Given the description of an element on the screen output the (x, y) to click on. 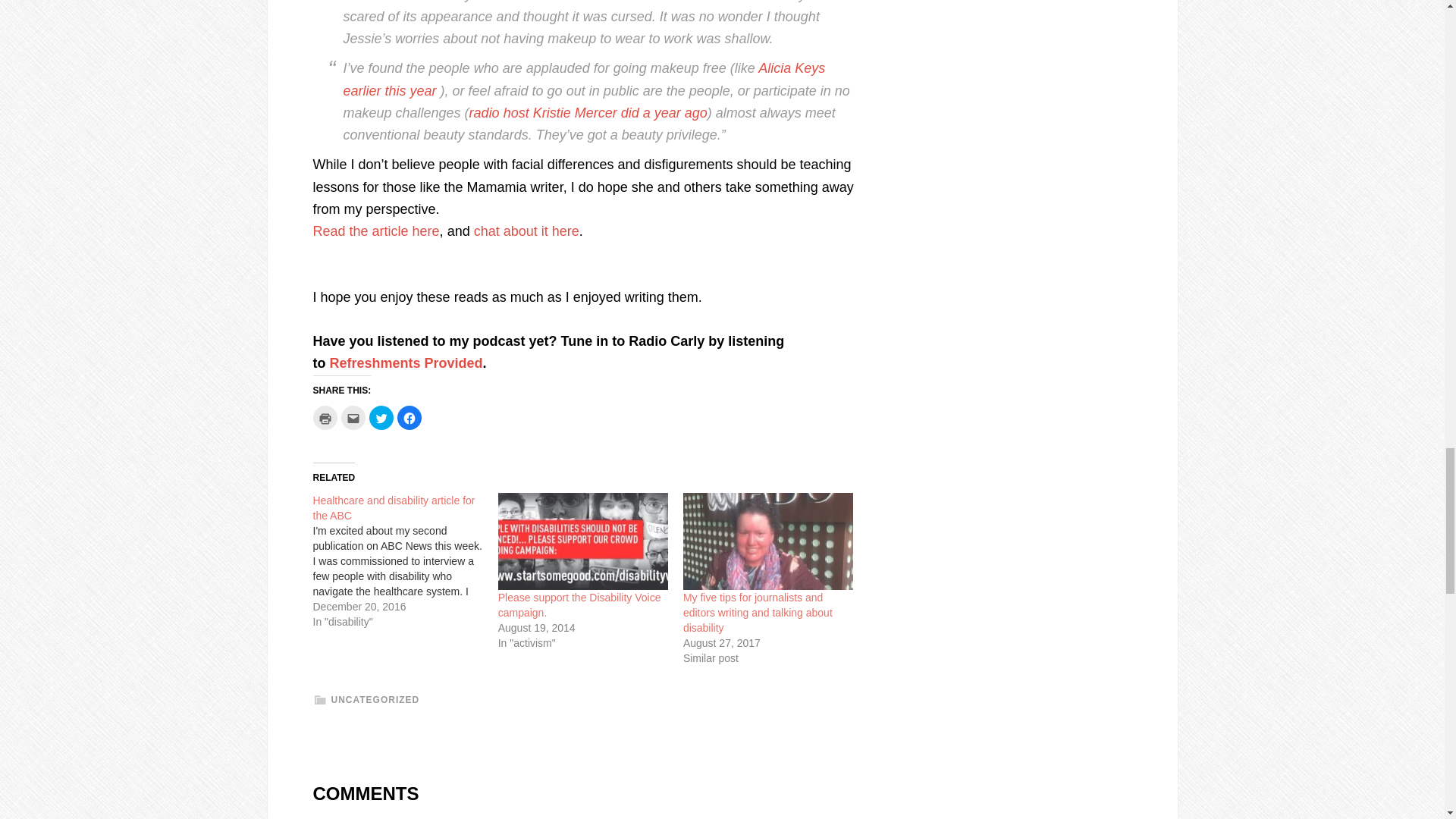
Click to share on Facebook (409, 417)
Please support the Disability Voice campaign. (579, 605)
Alicia Keys earlier this year (583, 78)
Click to print (324, 417)
Please support the Disability Voice campaign. (582, 541)
UNCATEGORIZED (374, 699)
Click to email this to a friend (352, 417)
Click to share on Twitter (380, 417)
Healthcare and disability article for the ABC (393, 507)
radio host Kristie Mercer did a year ago (587, 112)
Healthcare and disability article for the ABC (405, 561)
chat about it here (526, 231)
Please support the Disability Voice campaign. (579, 605)
